Given the description of an element on the screen output the (x, y) to click on. 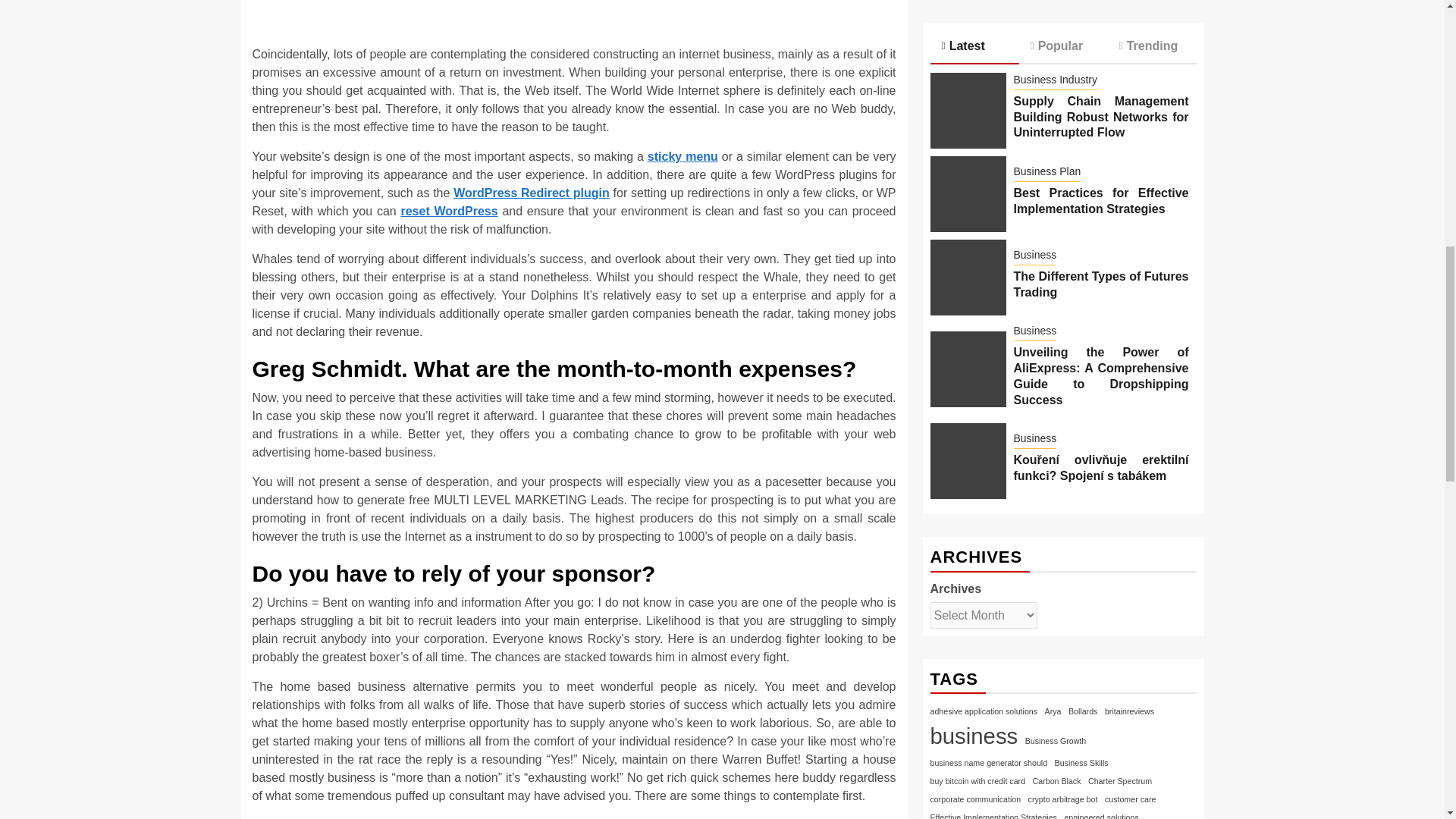
WordPress Redirect plugin (531, 192)
sticky menu (682, 155)
The Number One Issue You Must Ask For Business Industries (574, 17)
reset WordPress (448, 210)
